Given the description of an element on the screen output the (x, y) to click on. 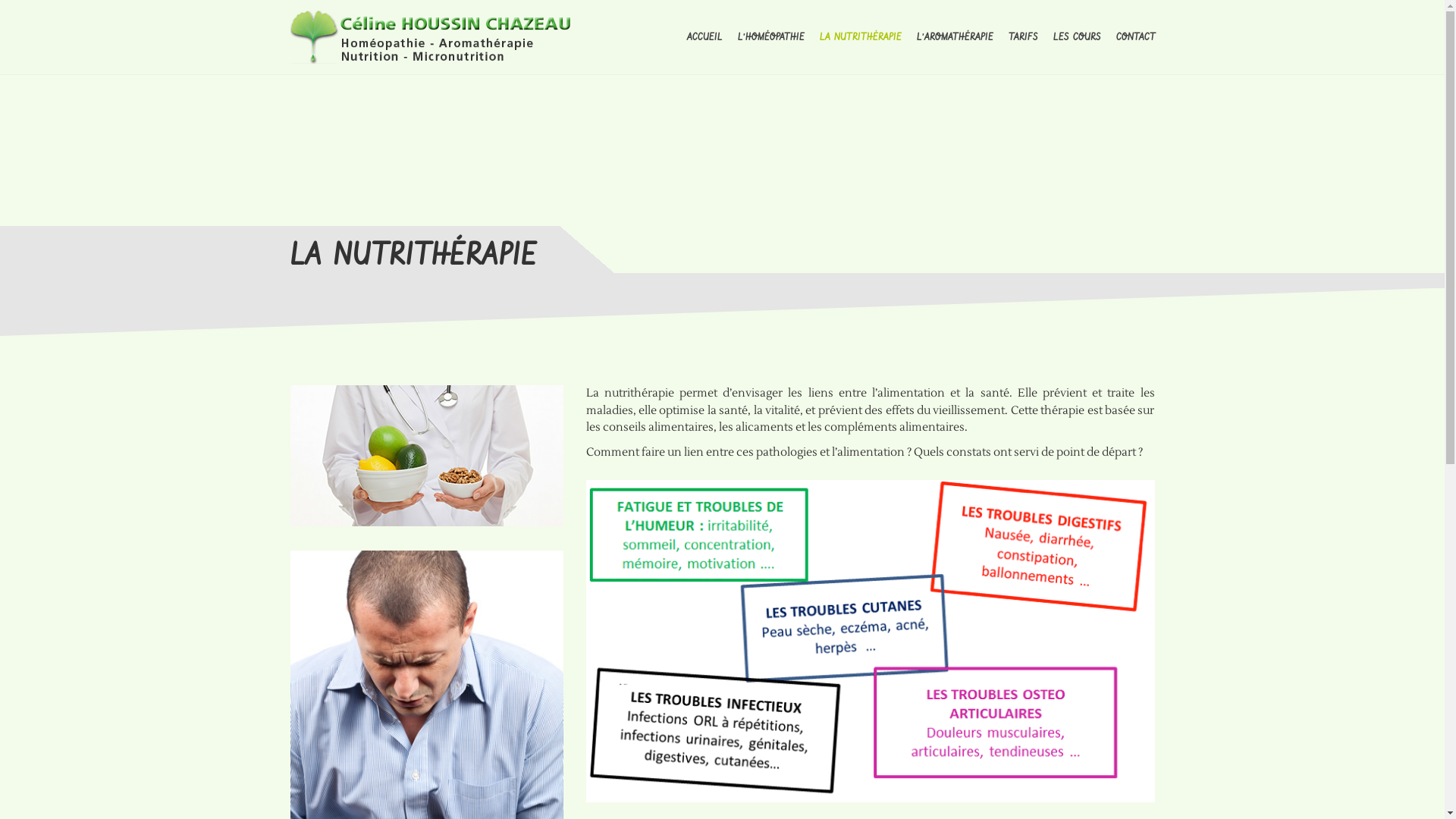
TARIFS Element type: text (1023, 36)
LES COURS Element type: text (1075, 36)
CONTACT Element type: text (1135, 36)
nutritherapie Element type: hover (425, 455)
ACCUEIL Element type: text (704, 36)
nutritheraphie Element type: hover (869, 641)
